Given the description of an element on the screen output the (x, y) to click on. 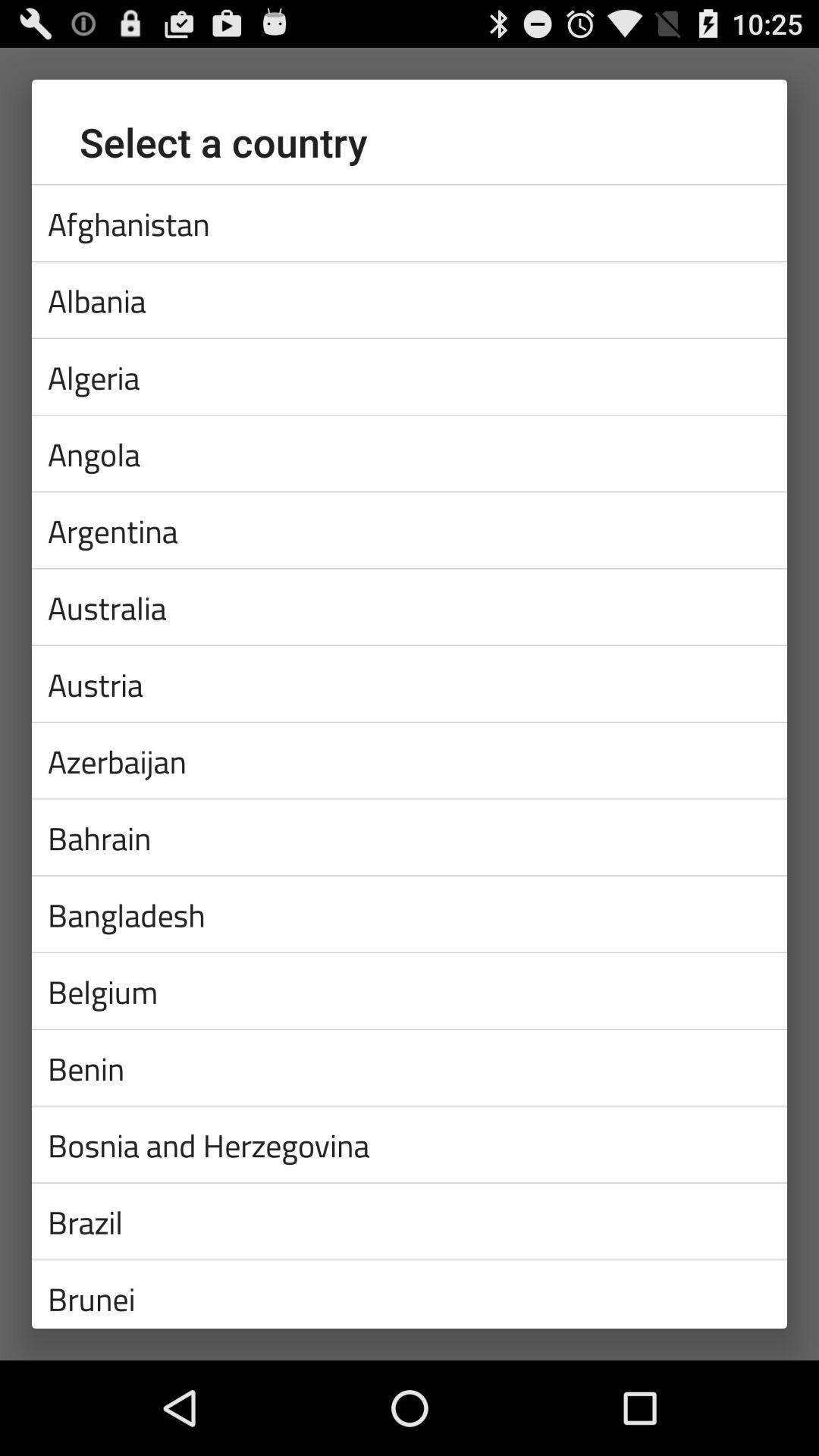
scroll to the afghanistan (409, 223)
